Given the description of an element on the screen output the (x, y) to click on. 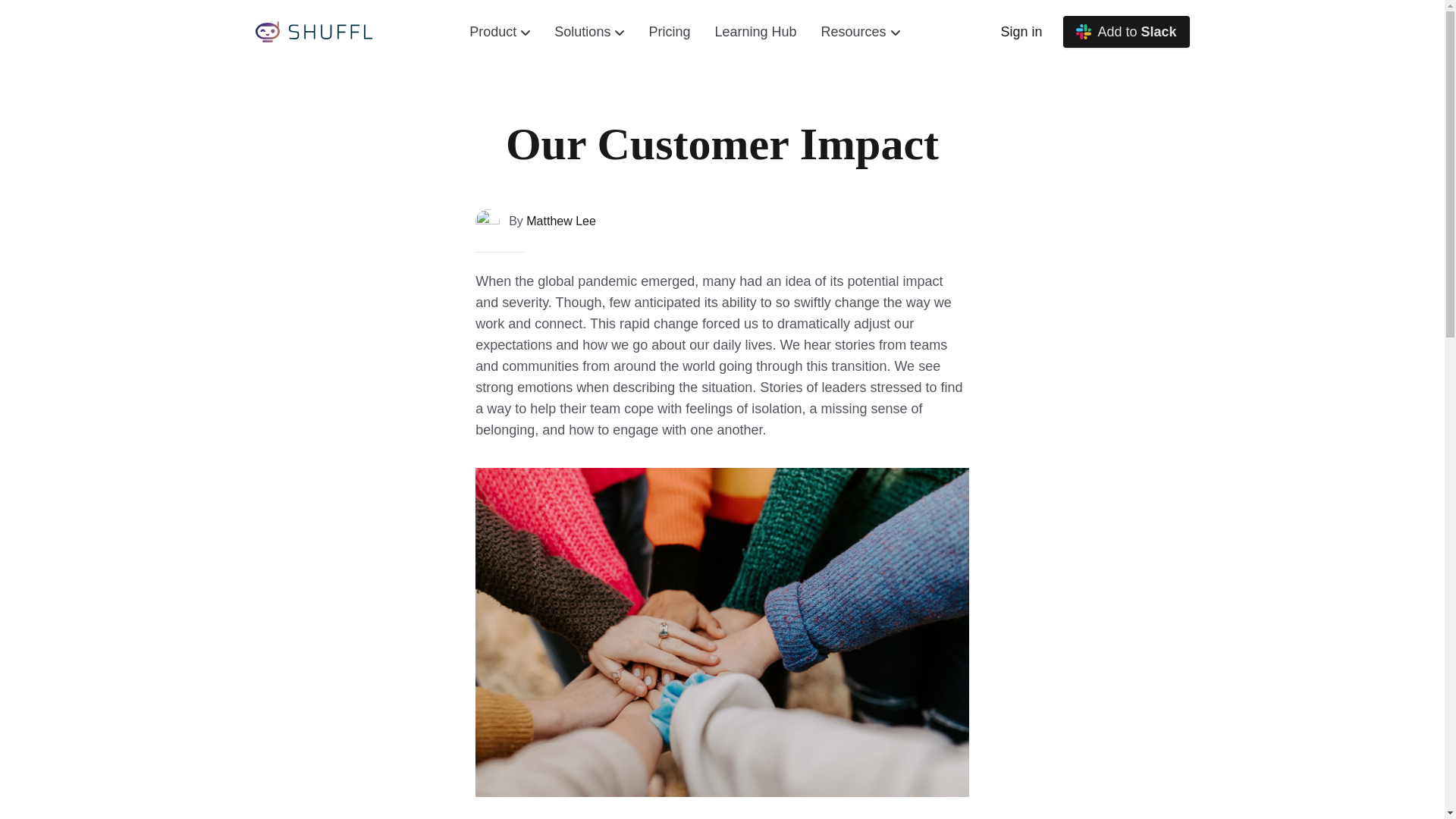
Sign in (1021, 31)
Add to Slack (1125, 31)
Learning Hub (754, 31)
Pricing (668, 31)
